Given the description of an element on the screen output the (x, y) to click on. 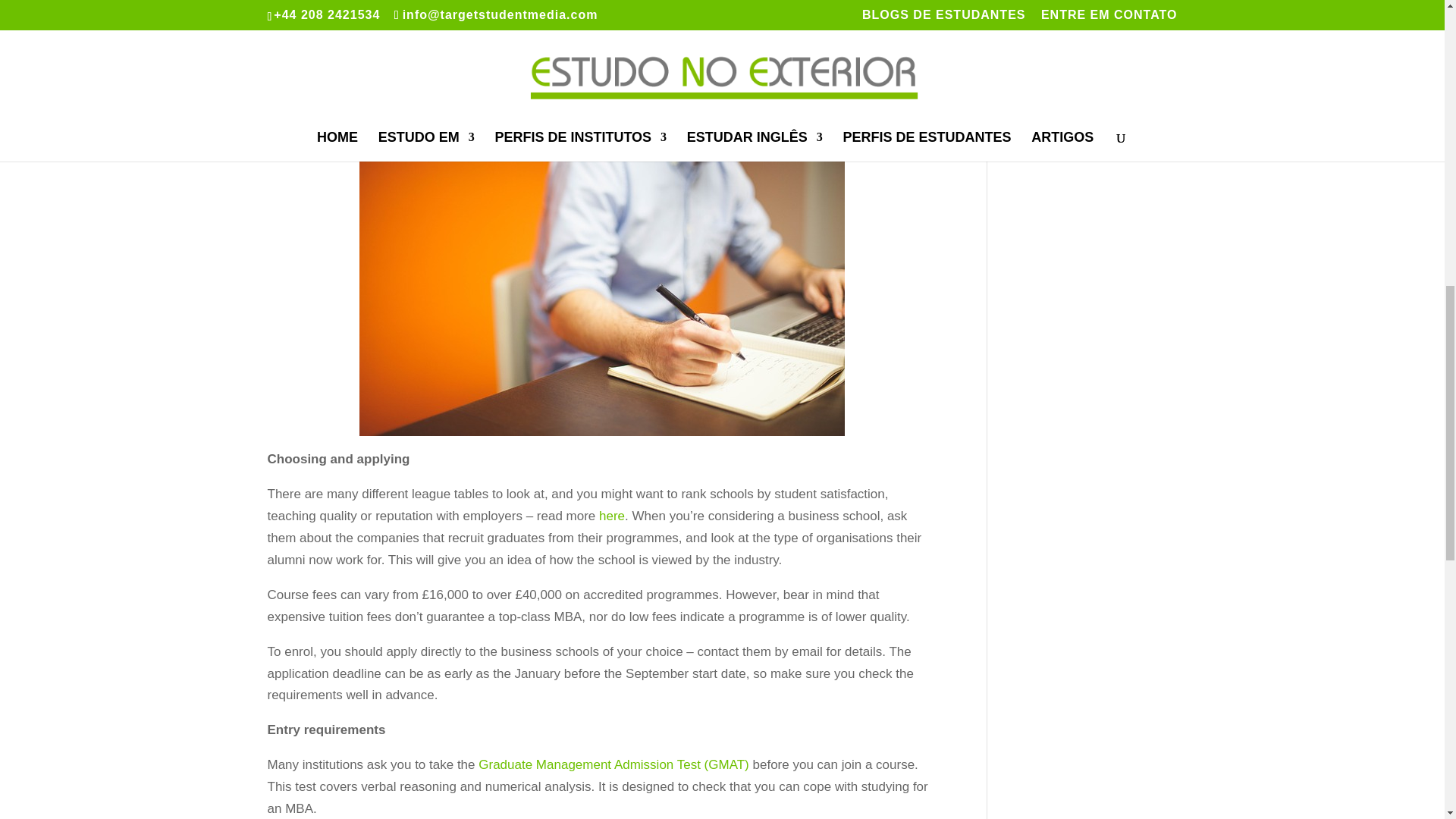
distance or online learning (661, 25)
here (611, 515)
